Given the description of an element on the screen output the (x, y) to click on. 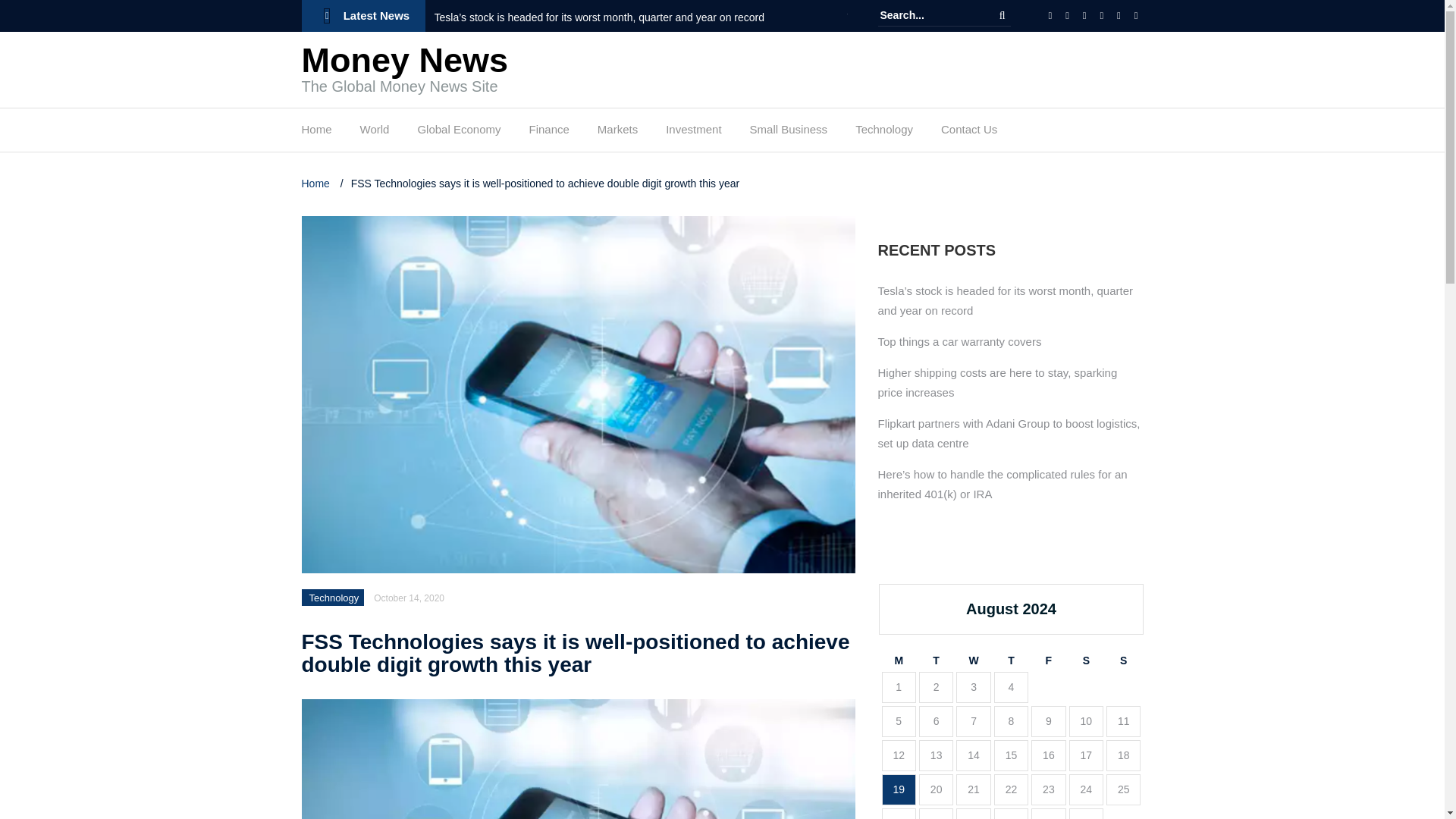
World (374, 133)
Thursday (1010, 660)
Money News (404, 59)
Wednesday (973, 660)
Global Economy (458, 133)
Tuesday (935, 660)
Home (317, 183)
Investment (692, 133)
Small Business (788, 133)
Home (316, 133)
